Given the description of an element on the screen output the (x, y) to click on. 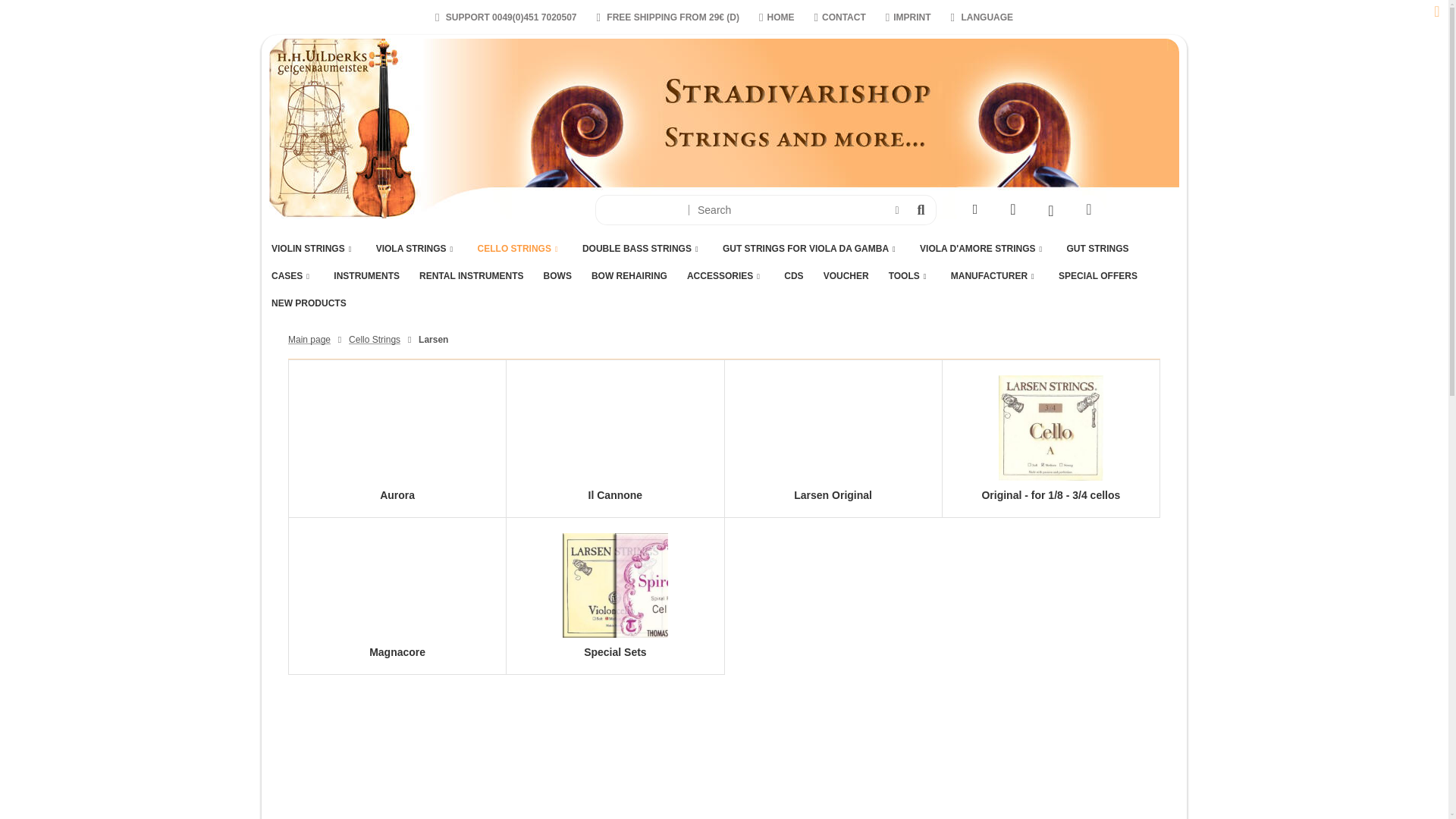
Login (975, 210)
Language, country, currency (981, 16)
CONTACT (839, 16)
Imprint (908, 16)
HOME (776, 16)
Home (776, 16)
Contact (839, 16)
IMPRINT (908, 16)
VIOLIN STRINGS (313, 248)
Wishlist (1013, 210)
Shopping cart (1051, 210)
LANGUAGE (981, 16)
Information (896, 209)
